Given the description of an element on the screen output the (x, y) to click on. 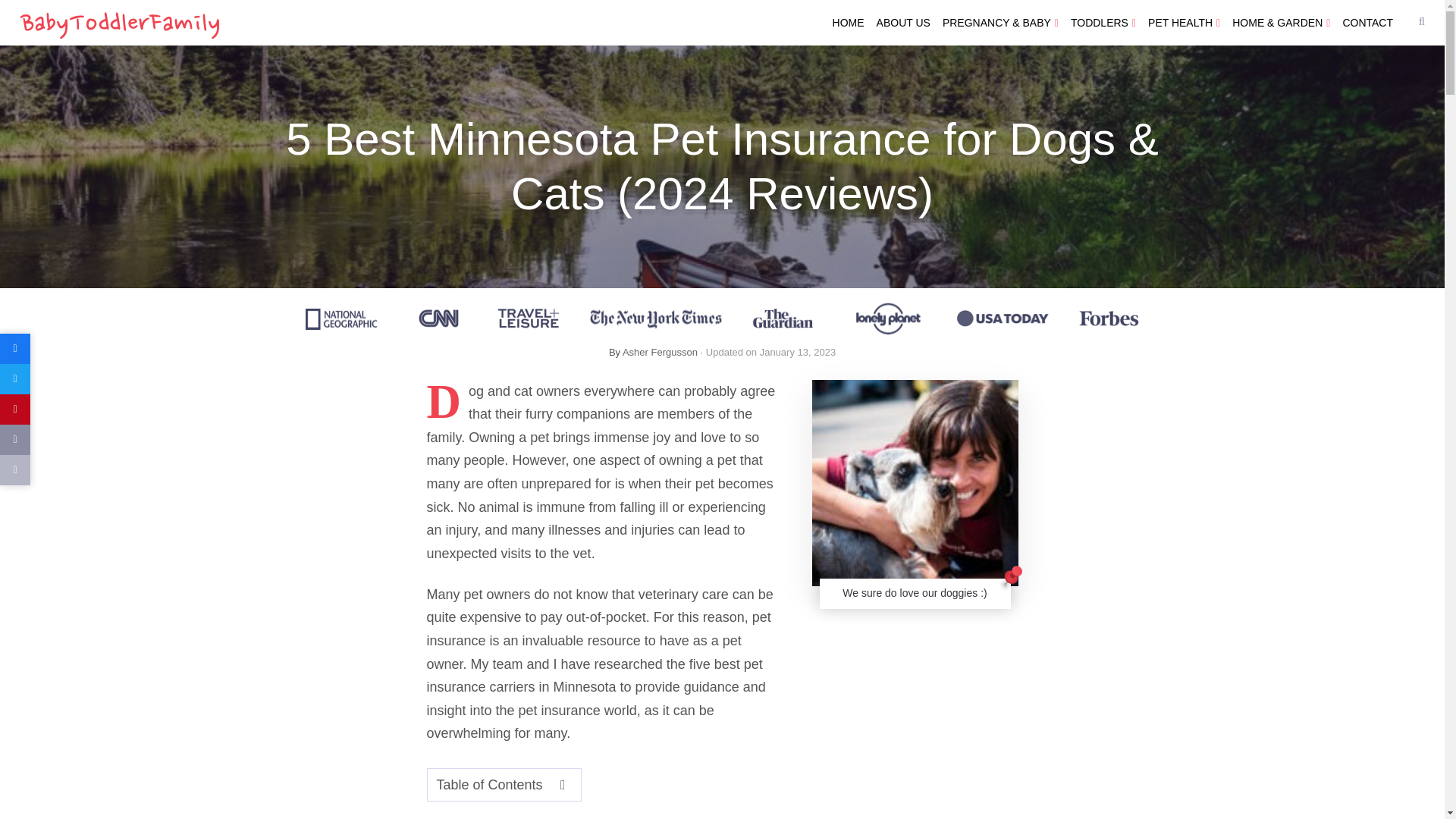
Share on Twitter (15, 378)
Share with Email (15, 440)
Share on Facebook (15, 348)
HOME (848, 22)
ABOUT US (903, 22)
Share on Pinterest (15, 409)
Print (15, 470)
